Given the description of an element on the screen output the (x, y) to click on. 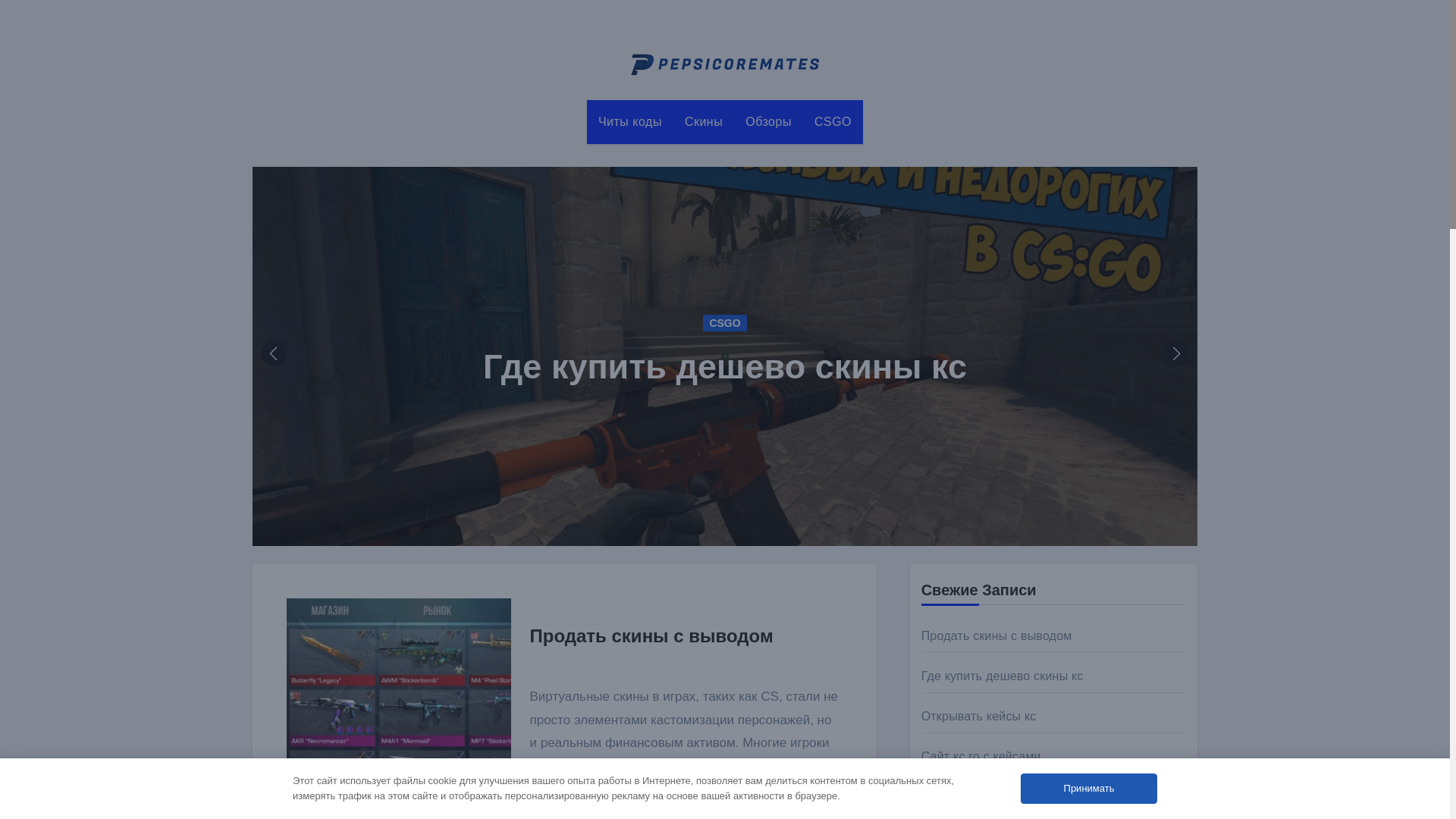
CSGO (724, 322)
CSGO (833, 121)
CSGO (833, 121)
